Given the description of an element on the screen output the (x, y) to click on. 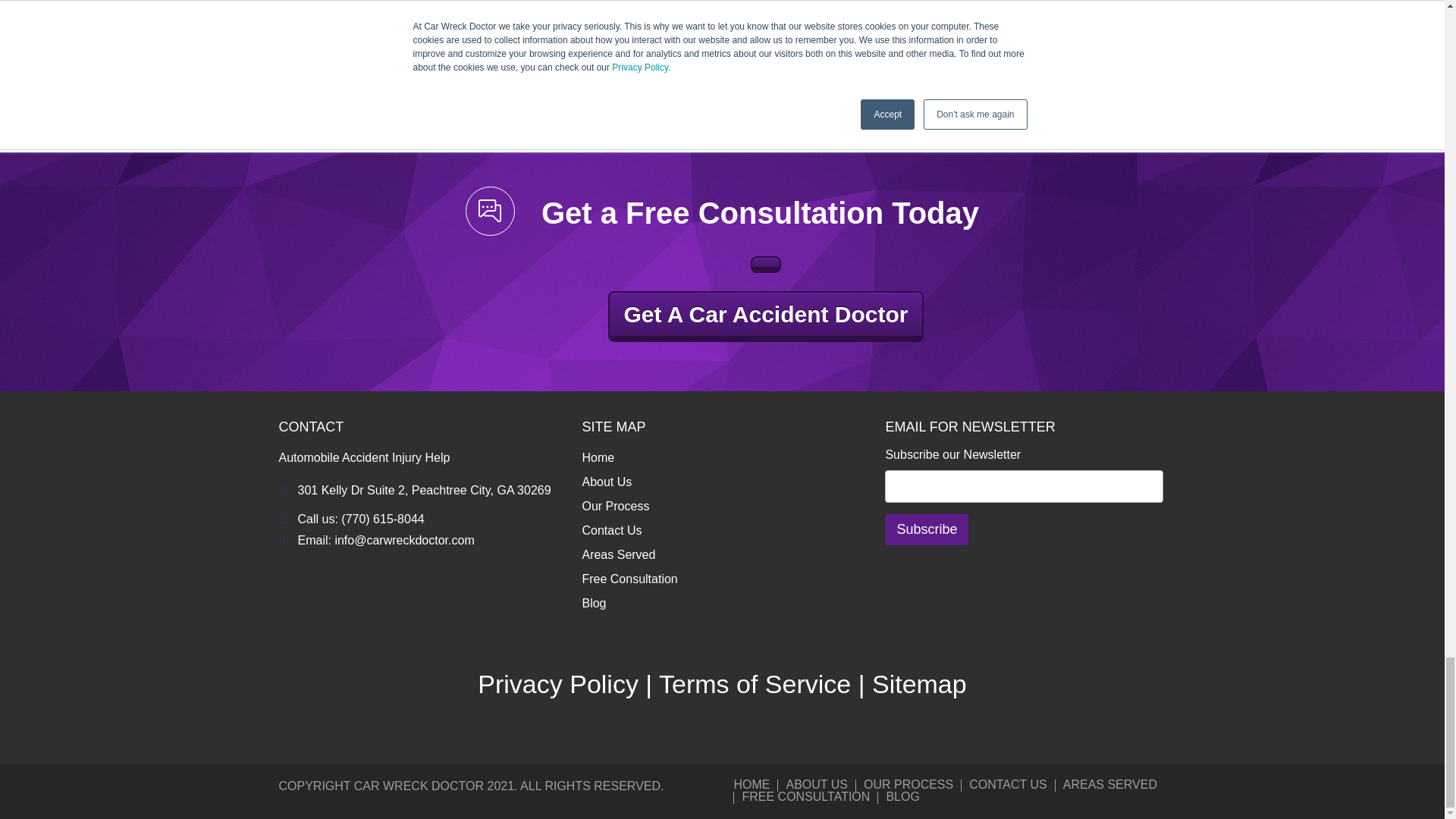
icon-24.png (489, 210)
Subscribe (926, 529)
Get A Car Accident Doctor (765, 316)
Get A Car Accident Doctor (765, 264)
